Given the description of an element on the screen output the (x, y) to click on. 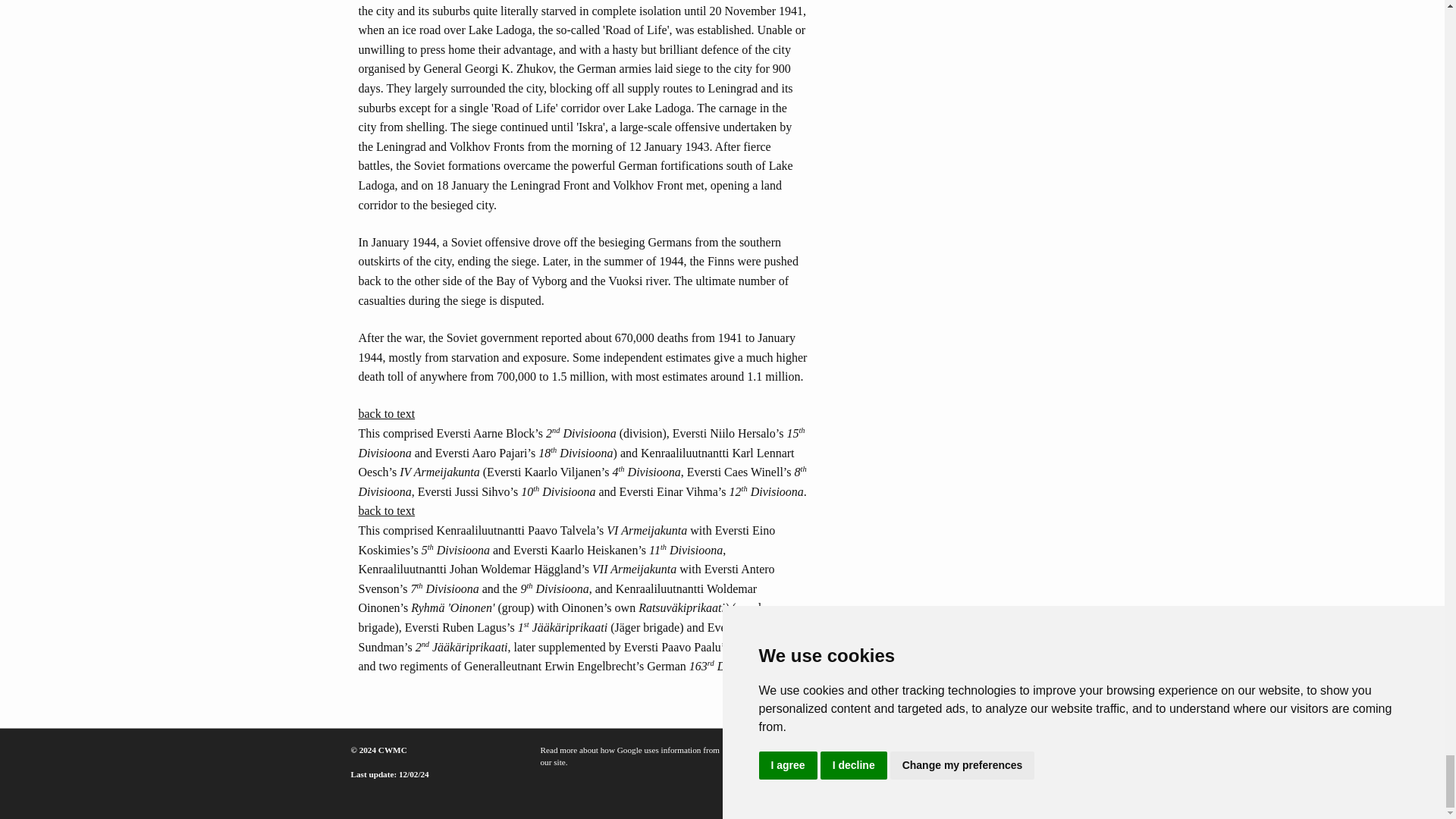
back to text (386, 510)
back to text (386, 413)
